Given the description of an element on the screen output the (x, y) to click on. 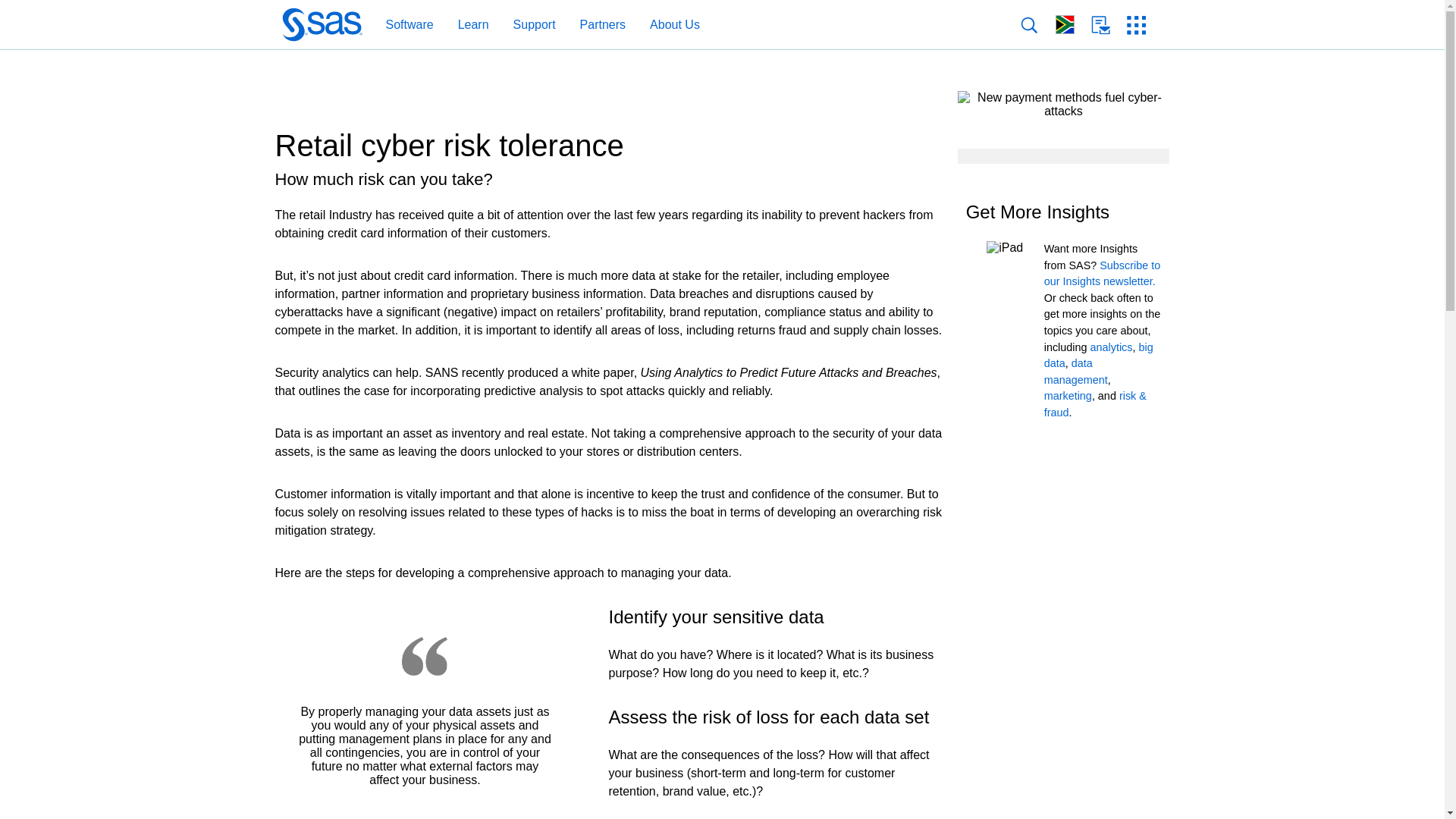
Marketing Insights (1067, 395)
Contact Us (1108, 25)
Subscribe to our Insights newesletter. (1101, 273)
About Us (674, 24)
Learn (465, 24)
Support (526, 24)
Partners (595, 24)
Data Management Insights (1075, 371)
Software (409, 24)
